Given the description of an element on the screen output the (x, y) to click on. 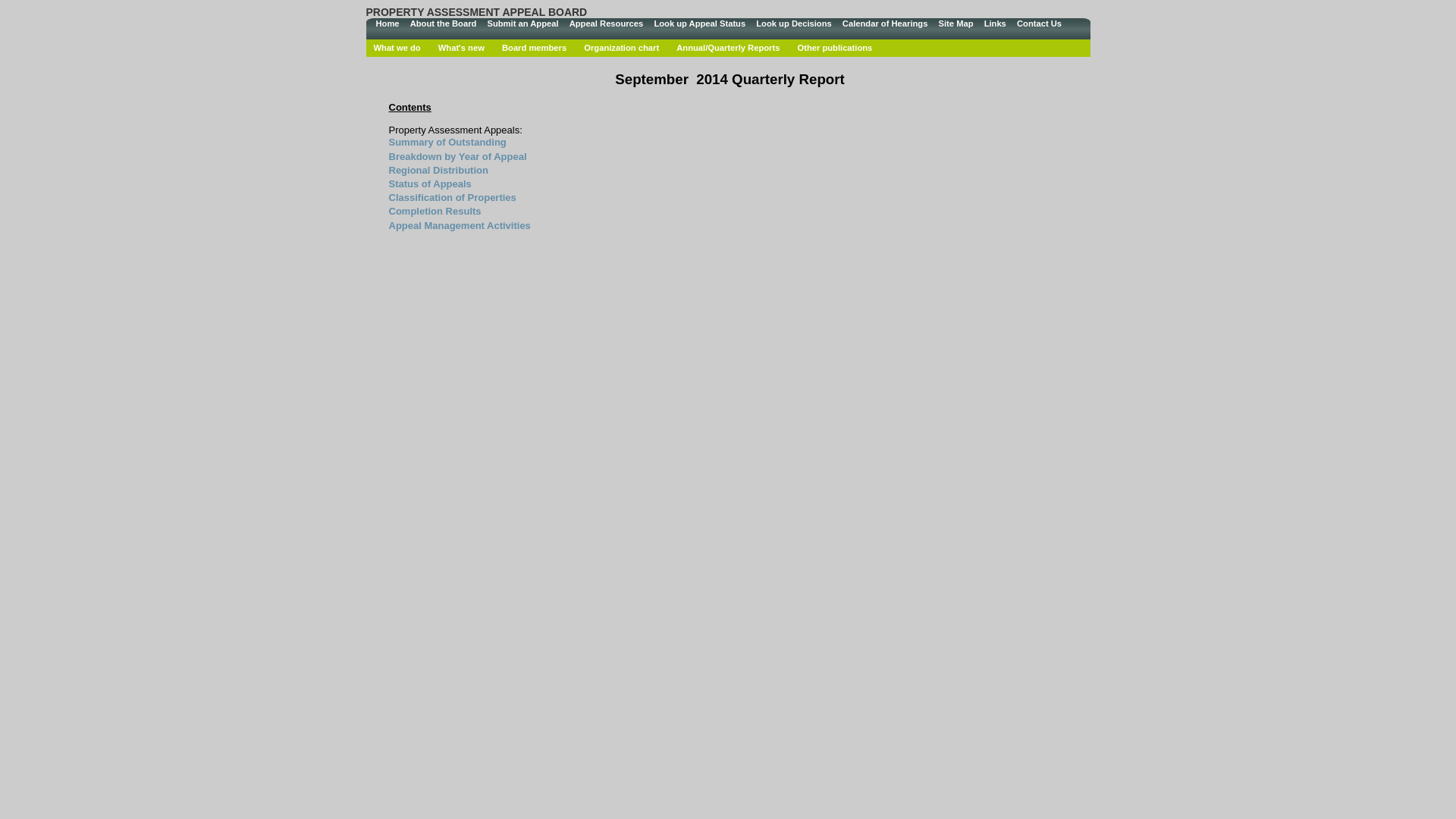
Look up Appeal Status Element type: text (699, 23)
Board members Element type: text (534, 47)
Submit an Appeal Element type: text (522, 23)
Summary of Outstanding Element type: text (446, 141)
Annual/Quarterly Reports Element type: text (727, 47)
Other publications Element type: text (834, 47)
Organization chart Element type: text (620, 47)
What's new Element type: text (461, 47)
Completion Results Element type: text (434, 210)
Breakdown by Year of Appeal Element type: text (457, 156)
Home Element type: text (387, 23)
Regional Distribution Element type: text (437, 169)
Status of Appeals Element type: text (429, 183)
Look up Decisions Element type: text (793, 23)
What we do Element type: text (396, 47)
Contact Us Element type: text (1038, 23)
Site Map Element type: text (955, 23)
Calendar of Hearings Element type: text (885, 23)
Appeal Resources Element type: text (606, 23)
About the Board Element type: text (443, 23)
Links Element type: text (995, 23)
Appeal Management Activities Element type: text (459, 225)
Classification of Properties Element type: text (451, 197)
